Given the description of an element on the screen output the (x, y) to click on. 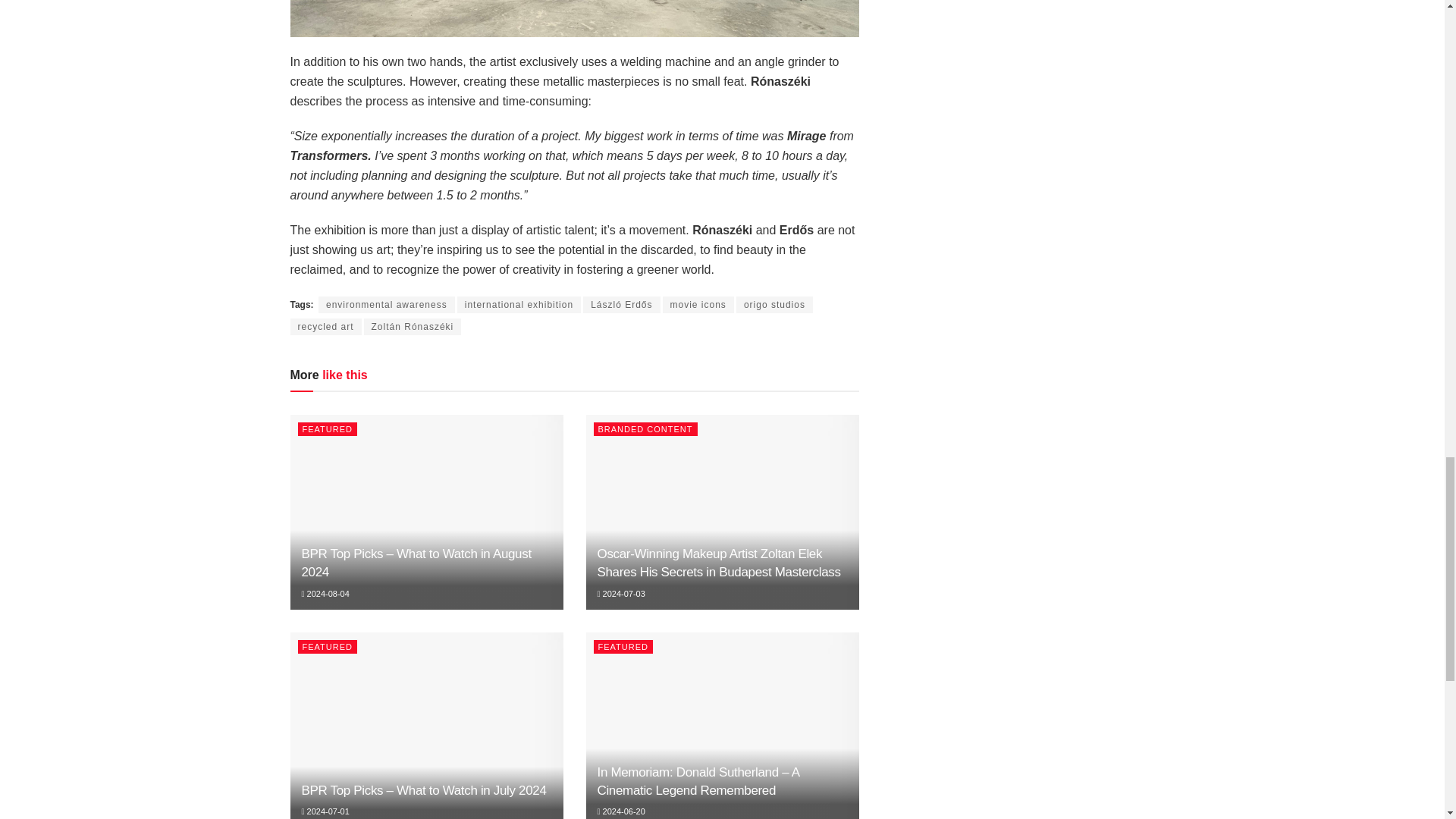
international exhibition (518, 304)
BRANDED CONTENT (644, 428)
environmental awareness (386, 304)
recycled art (325, 326)
FEATURED (326, 428)
origo studios (774, 304)
2024-08-04 (325, 593)
movie icons (697, 304)
